Given the description of an element on the screen output the (x, y) to click on. 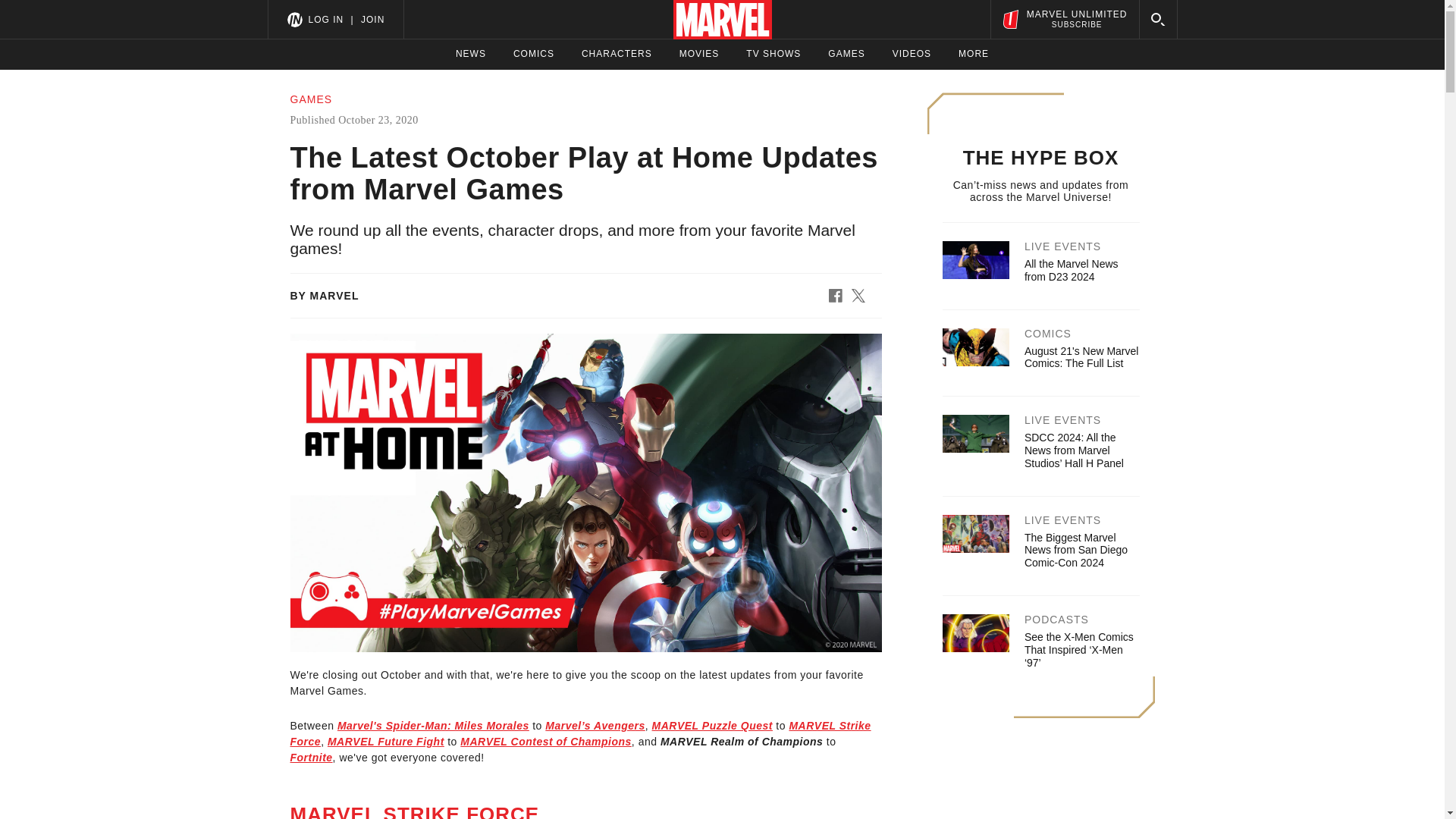
LOG IN (325, 18)
MARVEL Contest of Champions (545, 741)
COMICS (533, 54)
MOVIES (699, 54)
JOIN (372, 18)
MARVEL Strike Force (579, 733)
GAMES (846, 54)
MARVEL Future Fight (1064, 19)
MORE (385, 741)
